Given the description of an element on the screen output the (x, y) to click on. 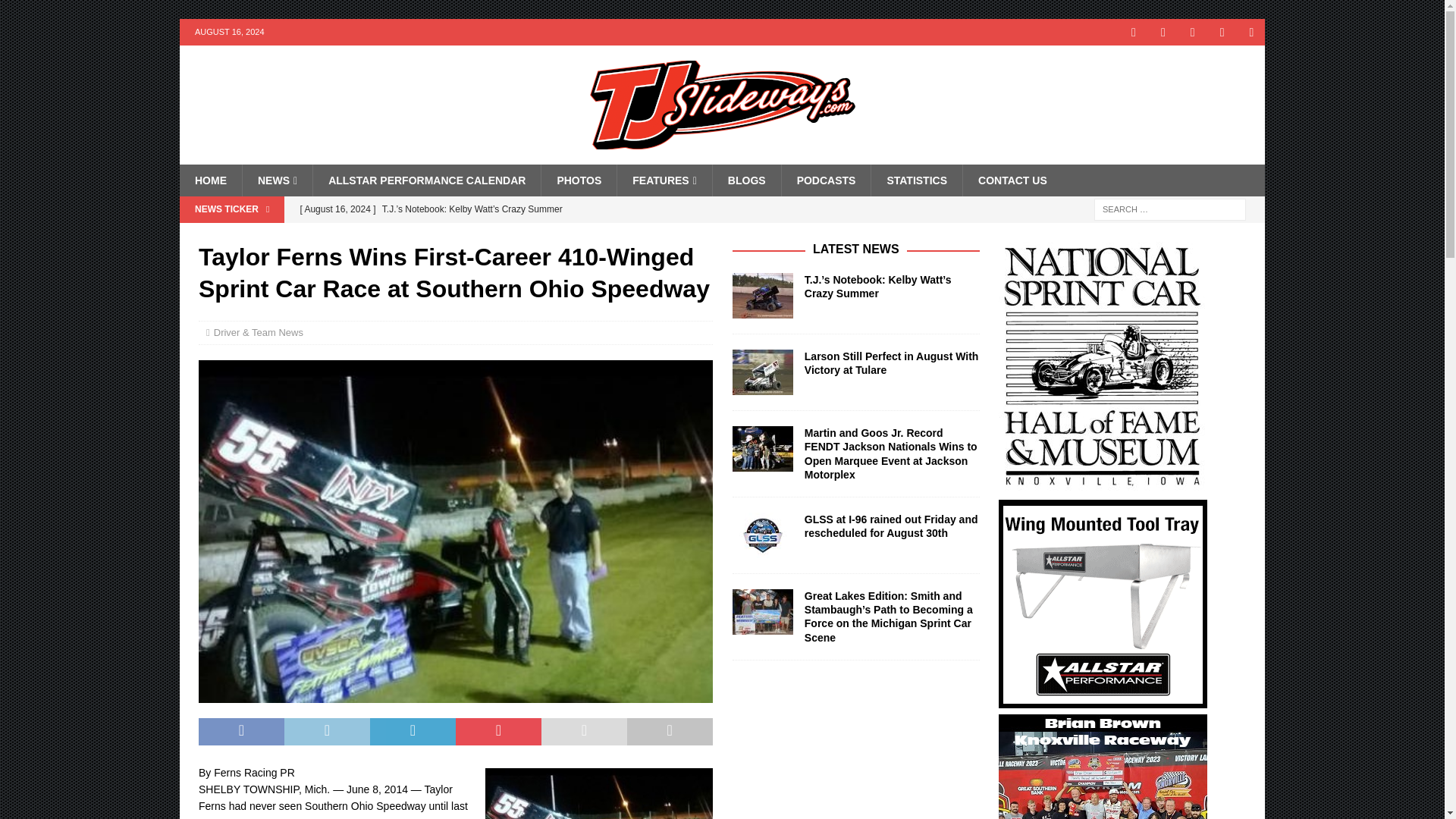
BLOGS (745, 180)
STATISTICS (916, 180)
FEATURES (663, 180)
PODCASTS (825, 180)
Larson Still Perfect in August With Victory at Tulare (589, 234)
NEWS (277, 180)
ALLSTAR PERFORMANCE CALENDAR (426, 180)
CONTACT US (1012, 180)
HOME (210, 180)
